Given the description of an element on the screen output the (x, y) to click on. 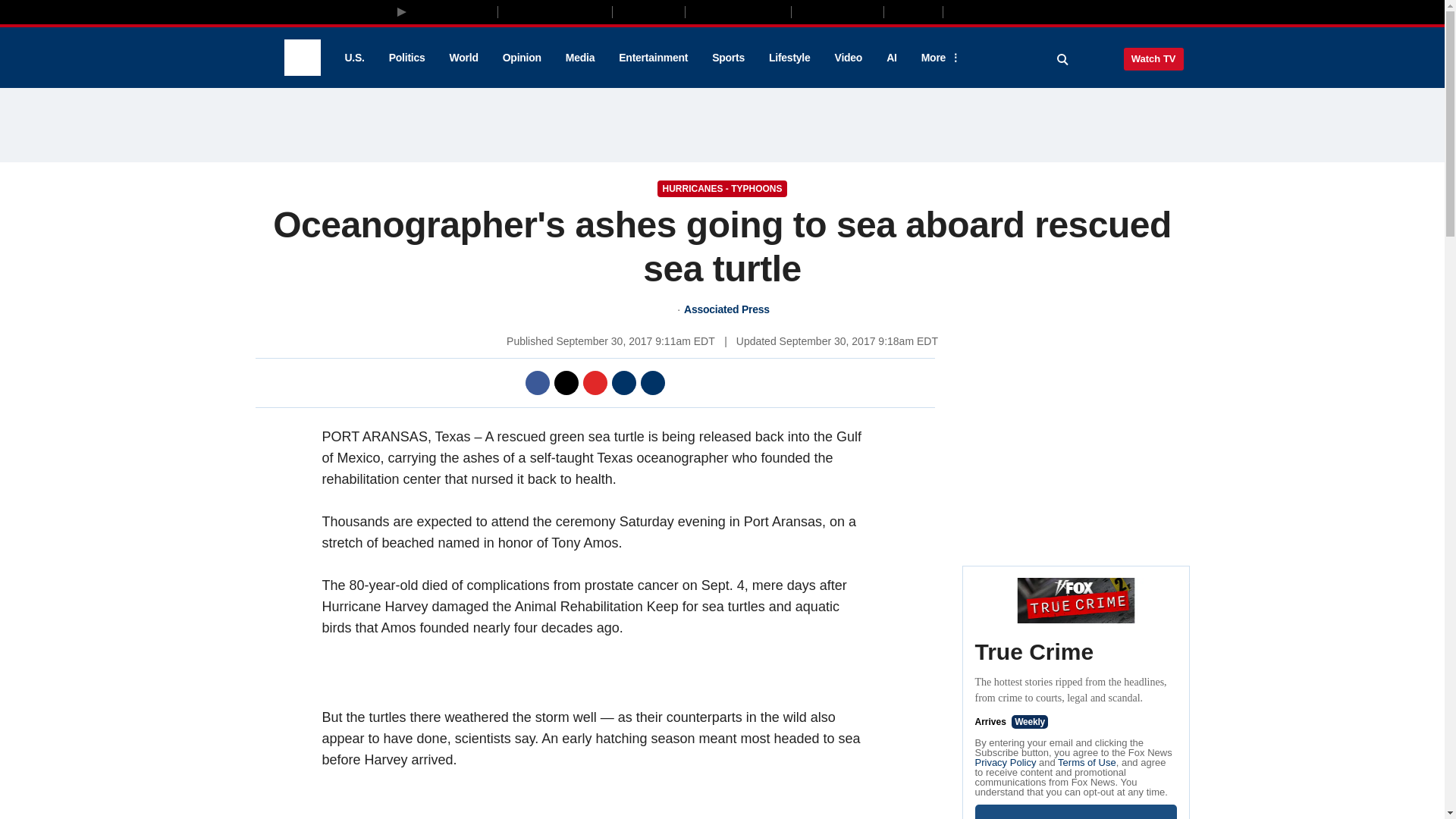
Lifestyle (789, 57)
Media (580, 57)
AI (891, 57)
U.S. (353, 57)
Sports (728, 57)
Opinion (521, 57)
Video (848, 57)
Politics (407, 57)
Watch TV (1153, 58)
Fox News Audio (737, 11)
